Given the description of an element on the screen output the (x, y) to click on. 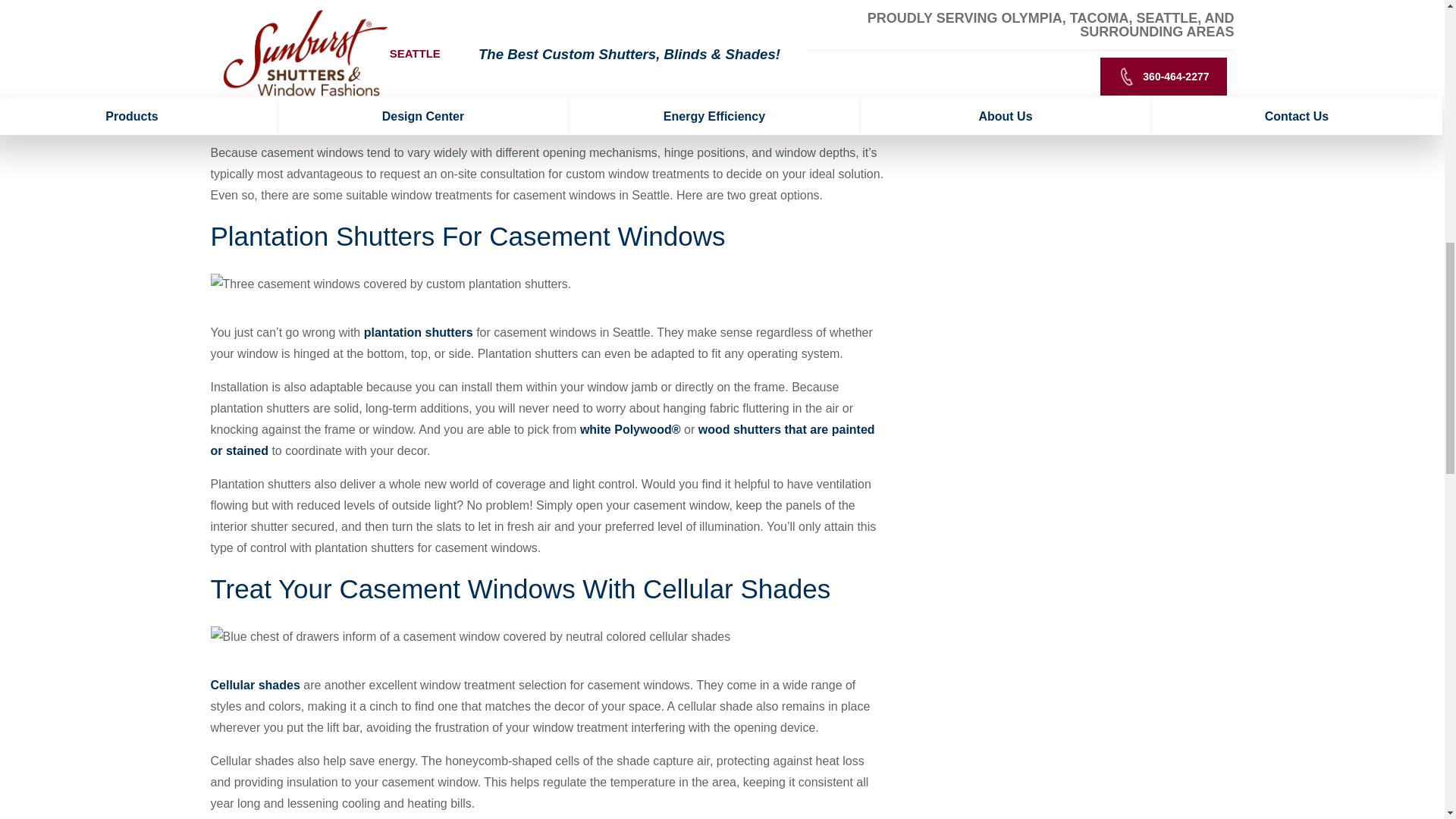
Cellular shades in Seattle (255, 684)
